Given the description of an element on the screen output the (x, y) to click on. 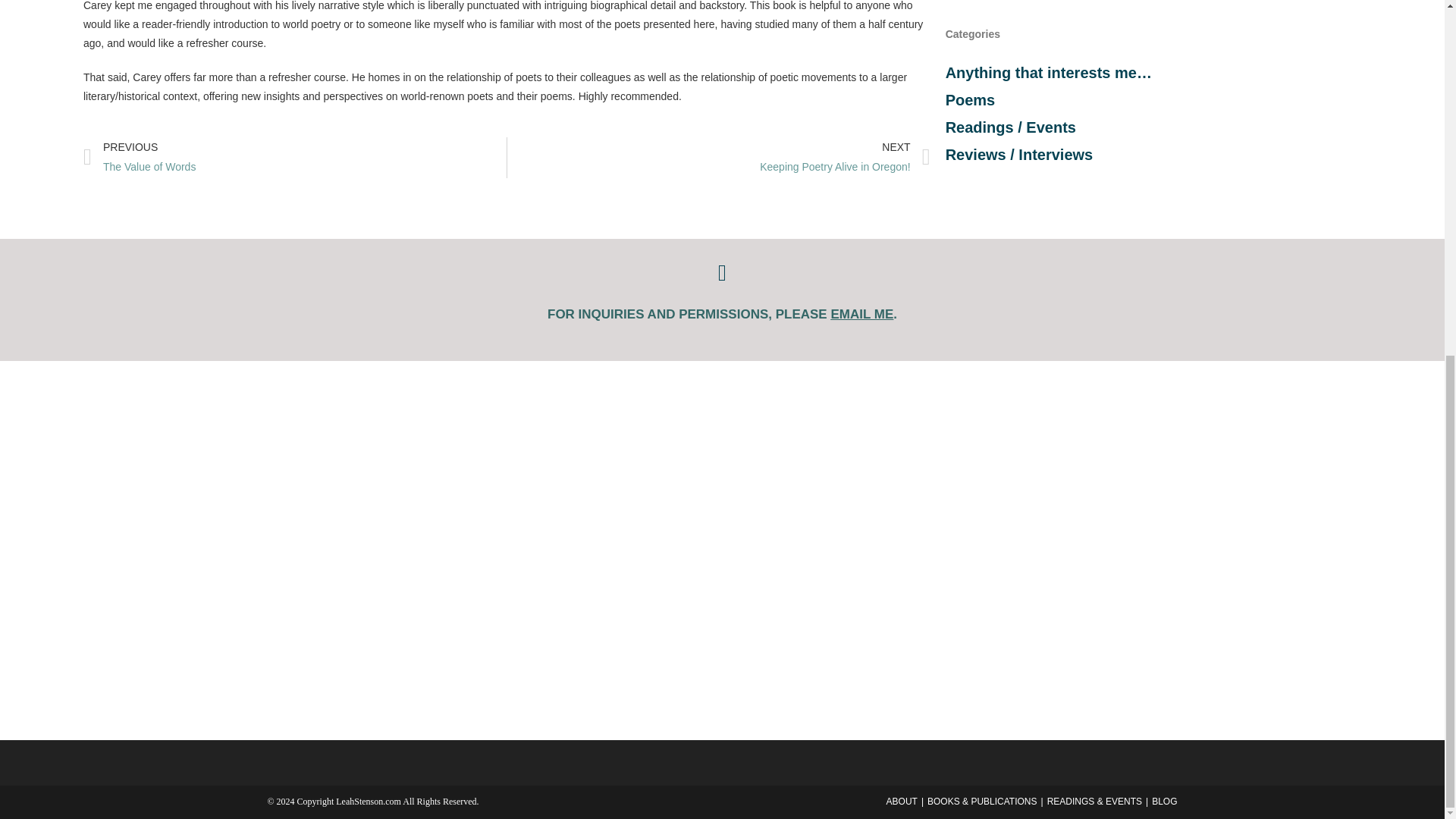
ABOUT LEAH STENSON (294, 156)
EMAIL ME (901, 801)
Poems (861, 314)
BLOG (969, 99)
ABOUT (845, 156)
